Given the description of an element on the screen output the (x, y) to click on. 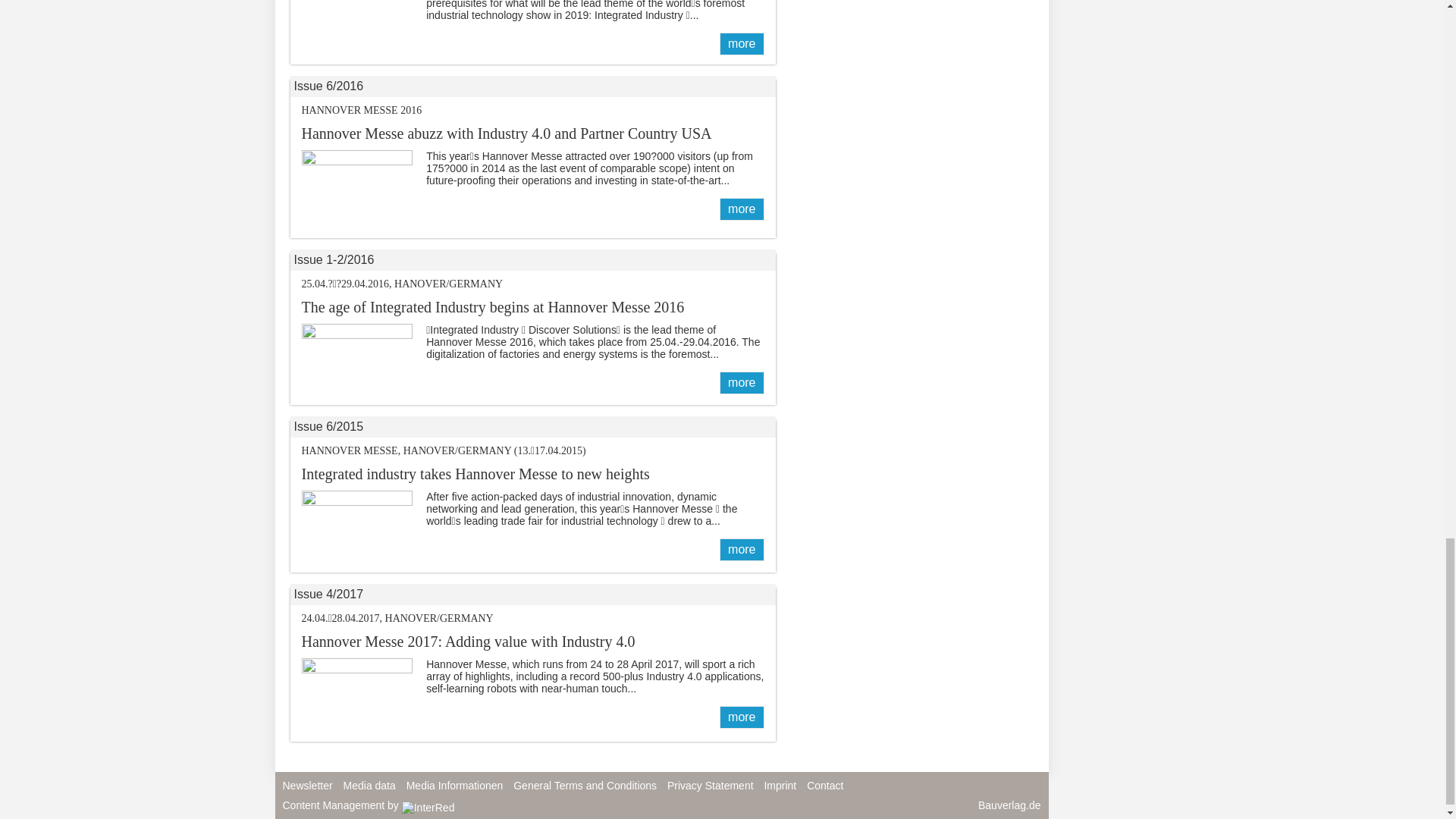
more (740, 43)
The age of Integrated Industry begins at Hannover Messe 2016 (740, 382)
more (740, 209)
Hannover Messe 2017: Adding value with Industry 4.0 (740, 716)
Integrated industry takes Hannover Messe to new heights (475, 474)
Integrated industry takes Hannover Messe to new heights (740, 549)
more (740, 382)
